Given the description of an element on the screen output the (x, y) to click on. 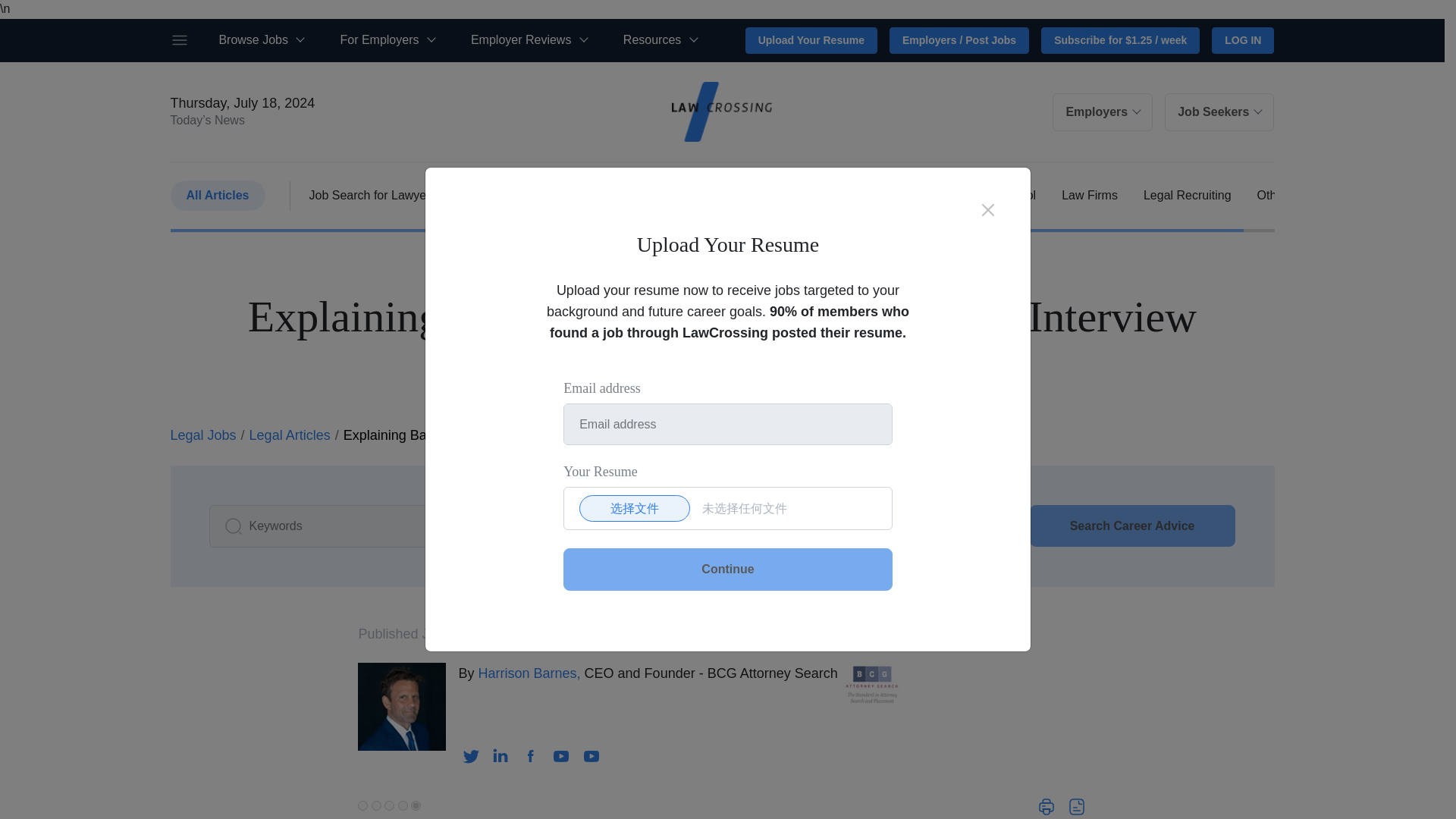
4 (402, 805)
linkedin (499, 756)
Upload Your Resume (811, 40)
Resources (660, 40)
facebook (530, 756)
Employers (1102, 112)
Printable Version (1045, 807)
PDF Version (1076, 807)
LOG IN (1242, 40)
instagram (591, 756)
5 (415, 805)
Employer Reviews (528, 40)
Browse Jobs (260, 40)
twitter (469, 756)
2 (376, 805)
